Given the description of an element on the screen output the (x, y) to click on. 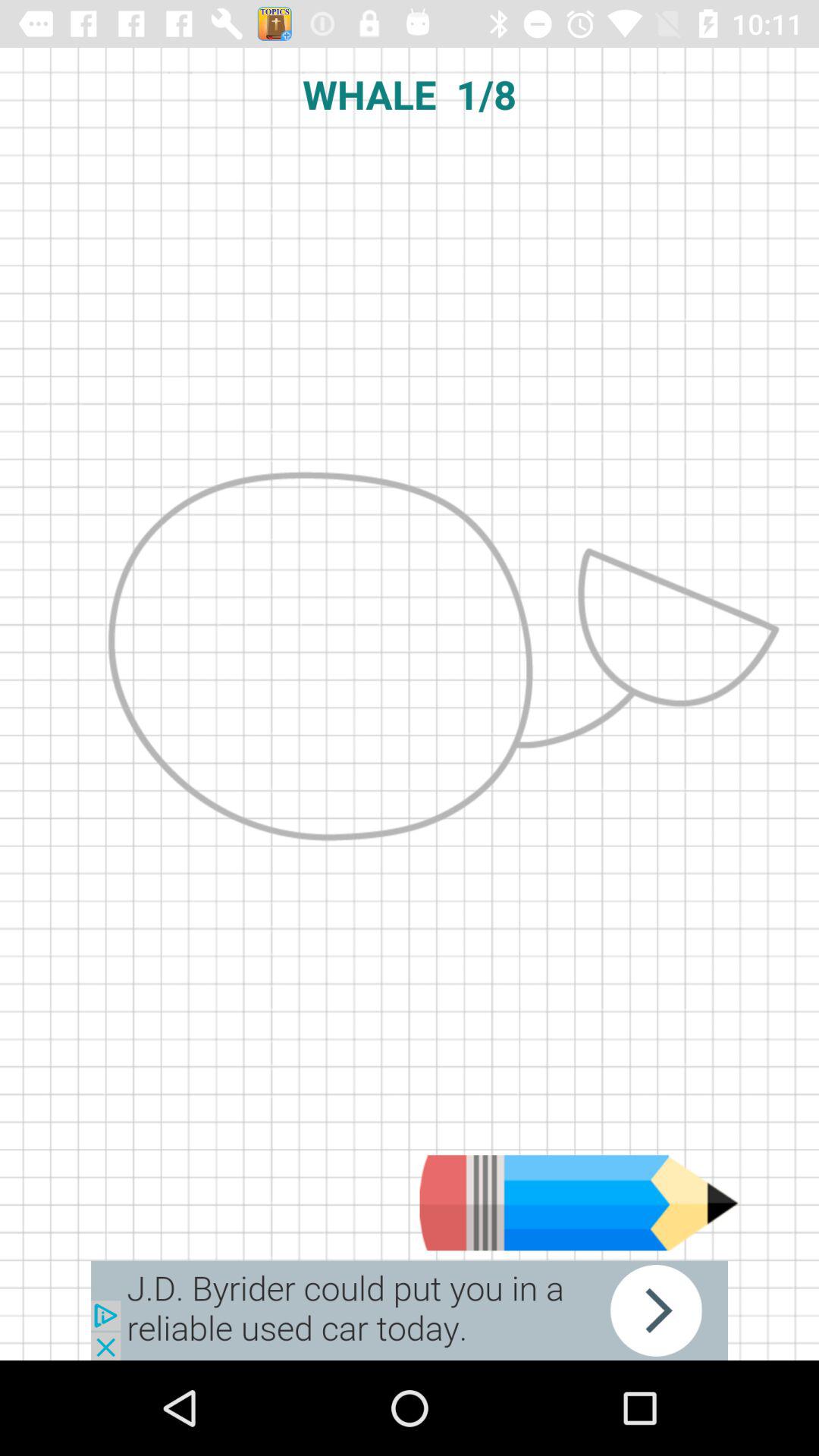
advertisement page (409, 1310)
